Given the description of an element on the screen output the (x, y) to click on. 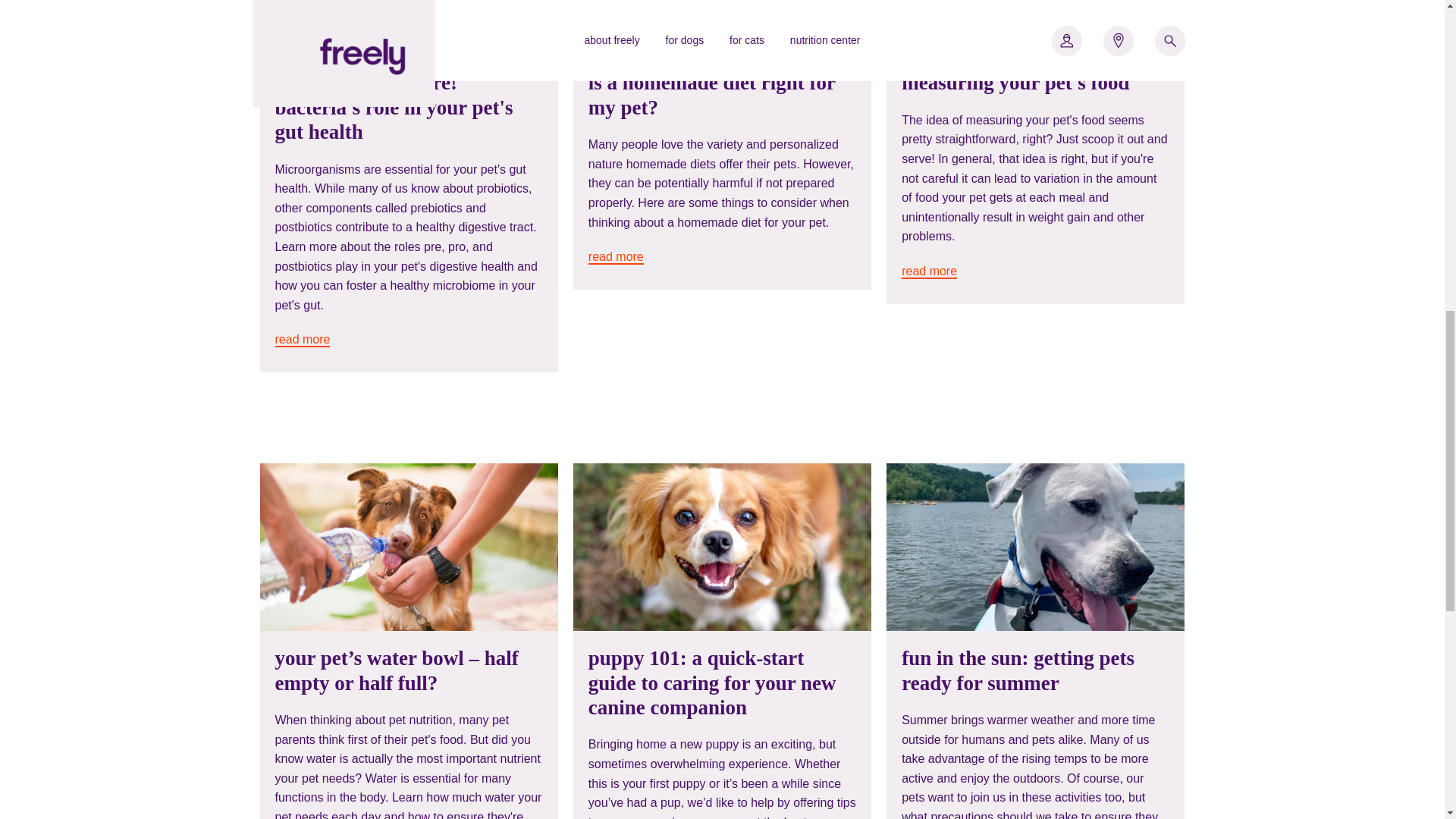
read more (302, 339)
is a homemade diet right for my pet? (711, 94)
MENU (162, 46)
